Given the description of an element on the screen output the (x, y) to click on. 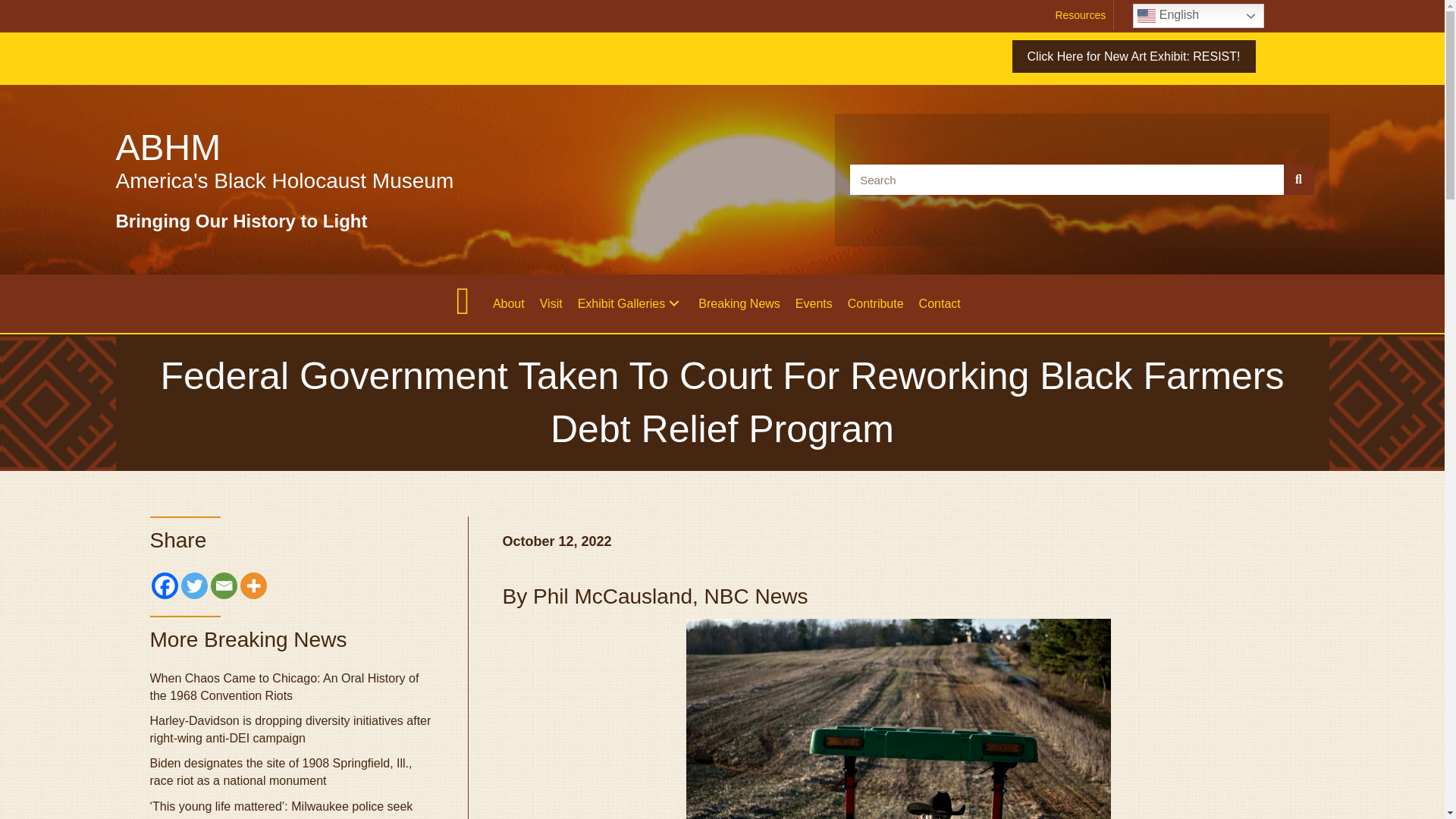
Events (813, 303)
Twitter (193, 585)
Facebook (164, 585)
Contribute (875, 303)
Email (224, 585)
About (508, 303)
Contact (939, 303)
More (253, 585)
Search (1067, 179)
